Given the description of an element on the screen output the (x, y) to click on. 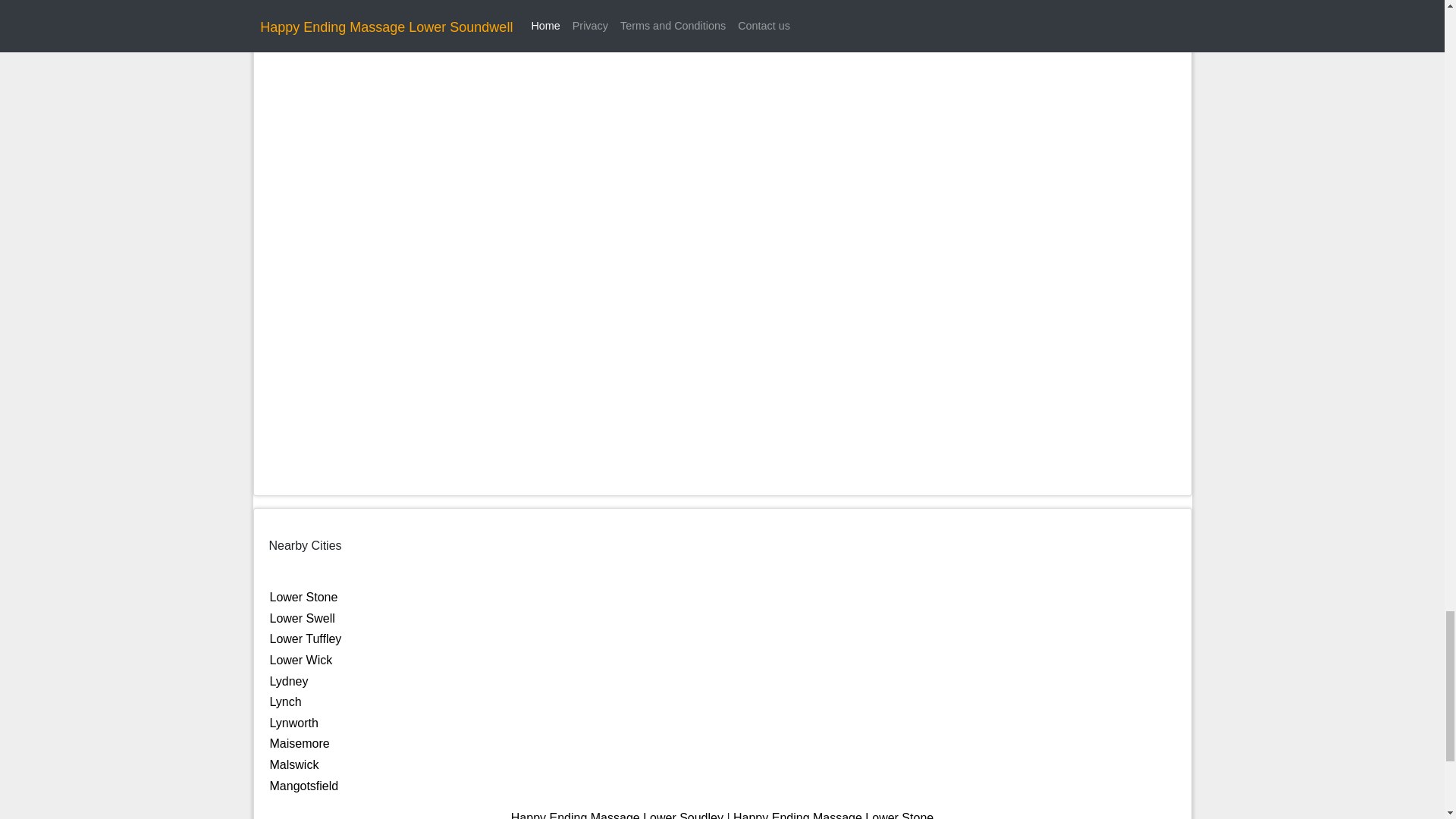
Mangotsfield (304, 785)
Malswick (293, 764)
Lynch (285, 701)
Lydney (288, 680)
Lower Tuffley (305, 638)
Happy Ending Massage Lower Stone (833, 815)
Lower Wick (301, 659)
Lower Stone (303, 596)
Maisemore (299, 743)
Happy Ending Massage Lower Soudley (617, 815)
